Given the description of an element on the screen output the (x, y) to click on. 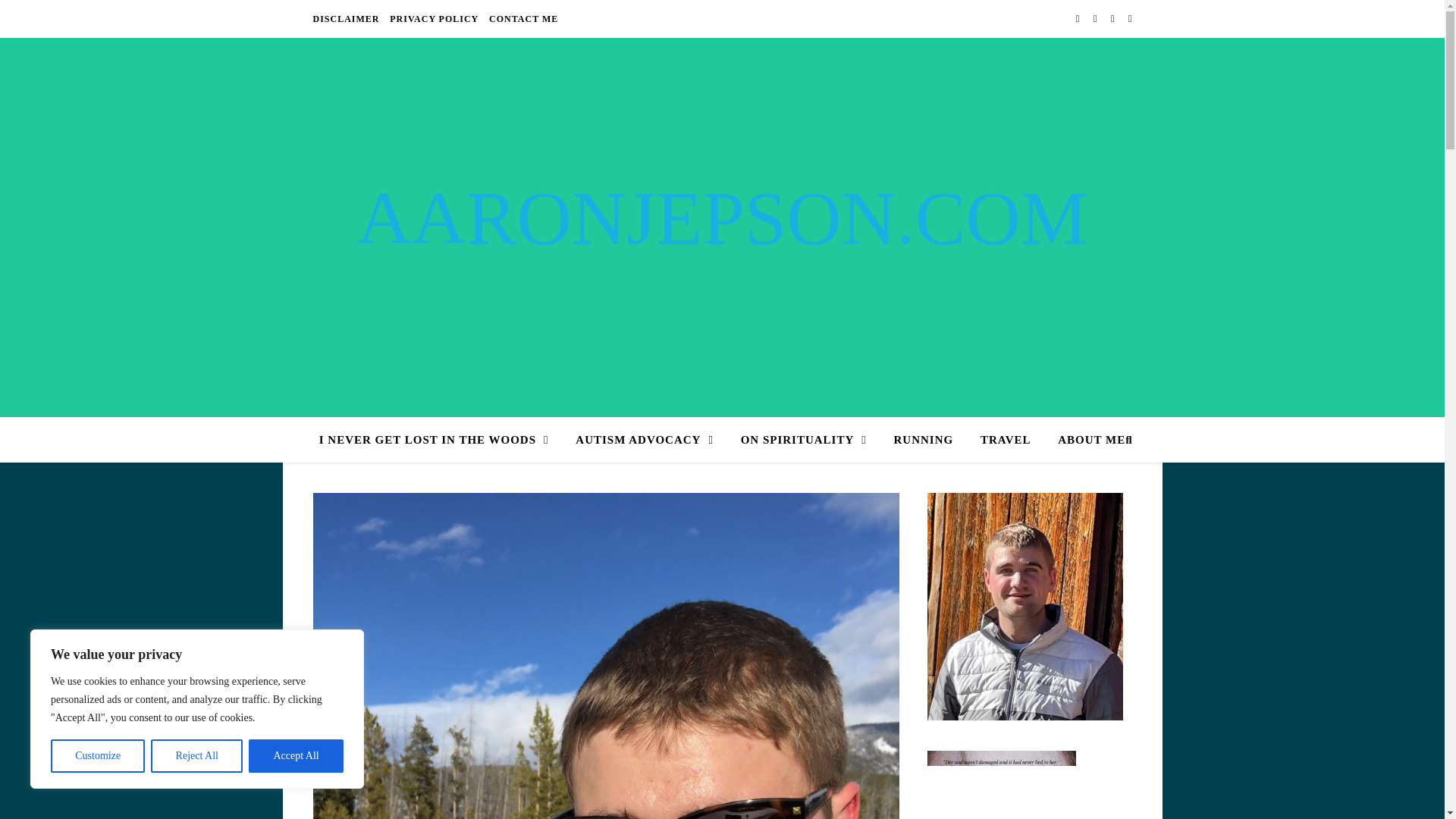
I NEVER GET LOST IN THE WOODS (439, 439)
ON SPIRITUALITY (804, 439)
DISCLAIMER (347, 18)
ABOUT ME (1085, 439)
Accept All (295, 756)
CONTACT ME (520, 18)
TRAVEL (1005, 439)
Reject All (197, 756)
PRIVACY POLICY (433, 18)
AUTISM ADVOCACY (644, 439)
Customize (97, 756)
RUNNING (924, 439)
